Given the description of an element on the screen output the (x, y) to click on. 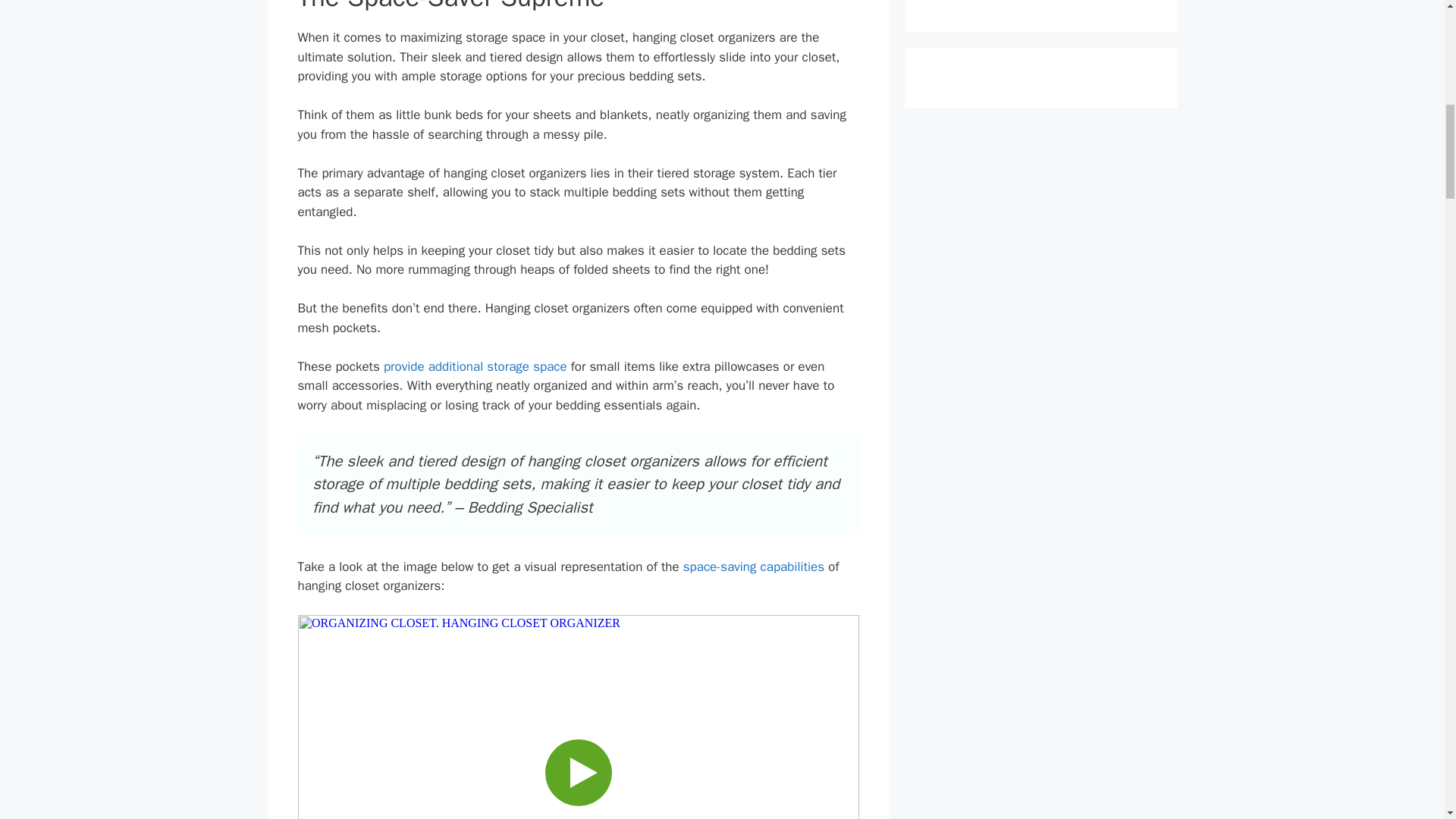
ORGANIZING CLOSET. HANGING CLOSET ORGANIZER (578, 717)
provide additional storage space (475, 366)
space-saving capabilities (753, 566)
